Given the description of an element on the screen output the (x, y) to click on. 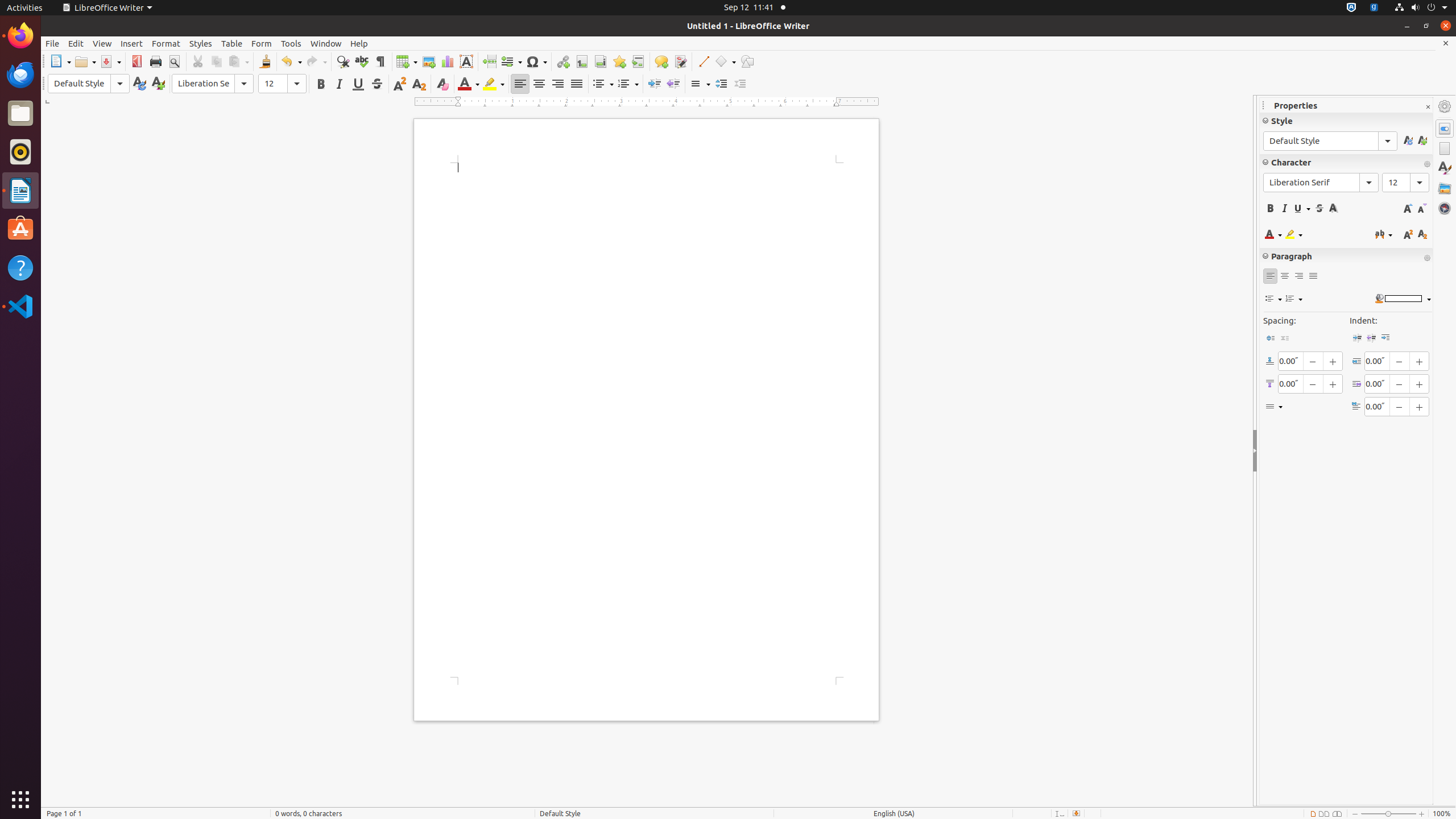
Edit Element type: menu (75, 43)
Font Size Element type: combo-box (282, 83)
Field Element type: push-button (510, 61)
Styles Element type: menu (200, 43)
Font Name Element type: combo-box (212, 83)
